Given the description of an element on the screen output the (x, y) to click on. 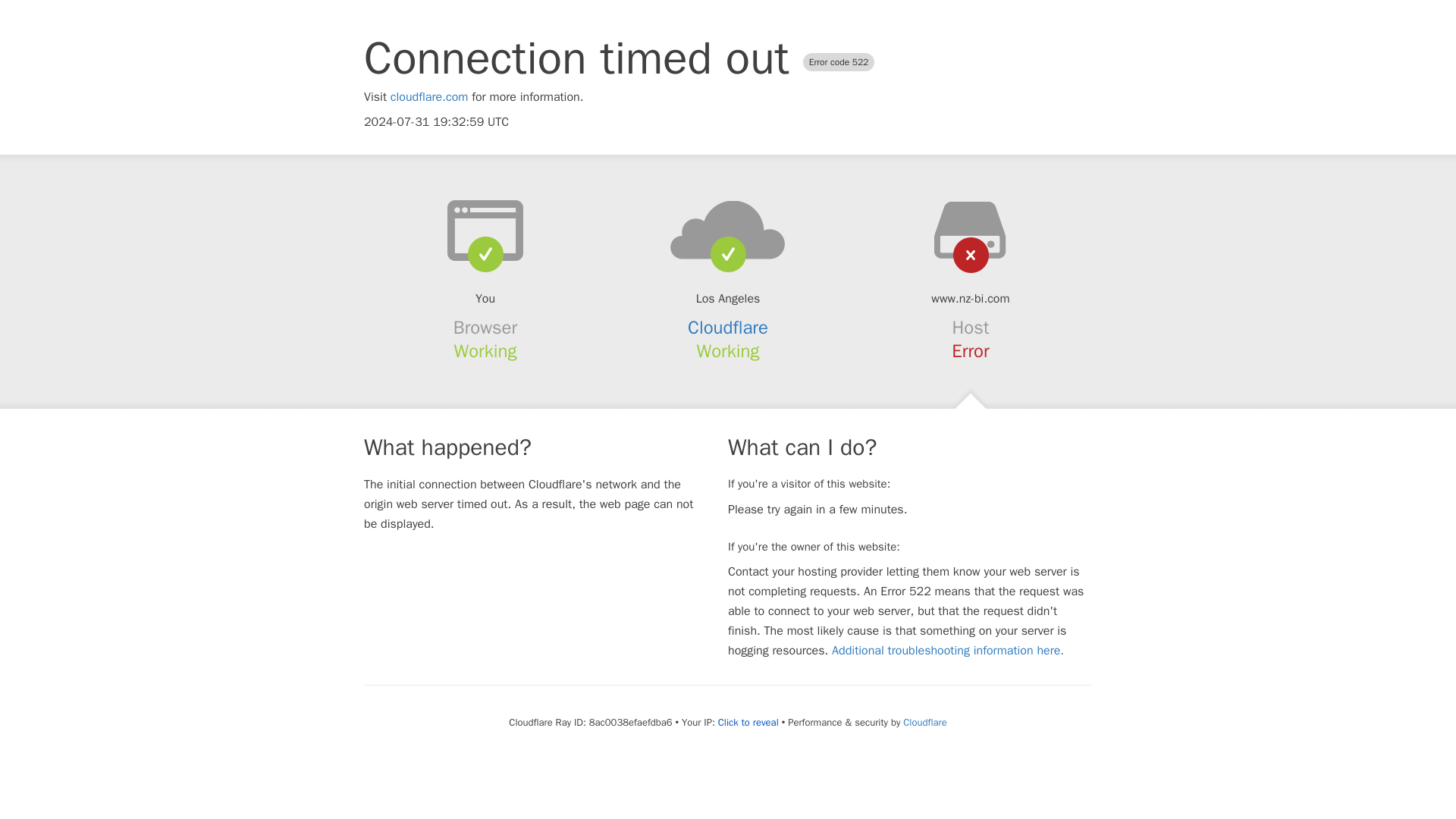
Click to reveal (747, 722)
Cloudflare (924, 721)
Cloudflare (727, 327)
Additional troubleshooting information here. (947, 650)
cloudflare.com (429, 96)
